Given the description of an element on the screen output the (x, y) to click on. 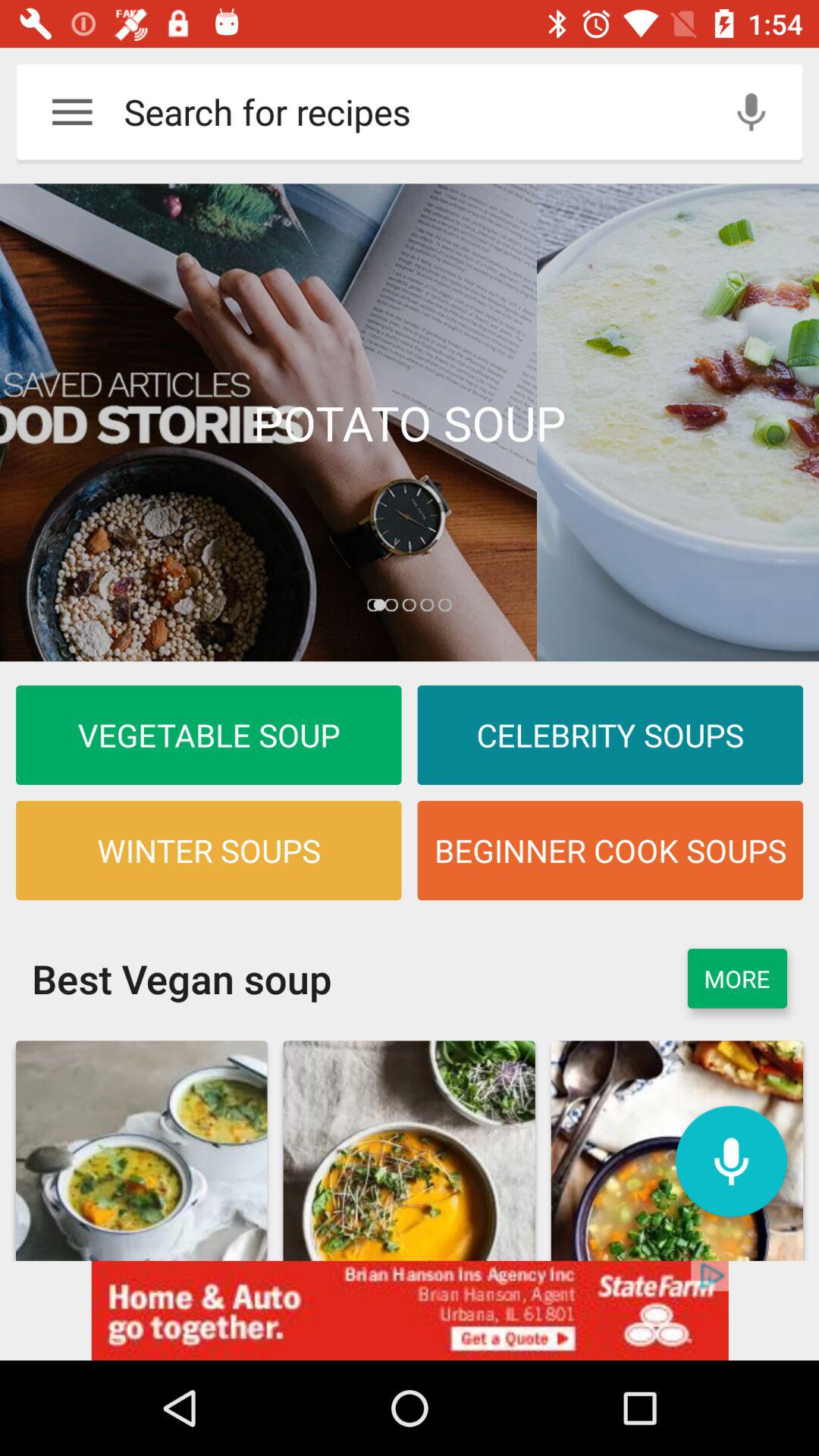
mike (751, 111)
